Given the description of an element on the screen output the (x, y) to click on. 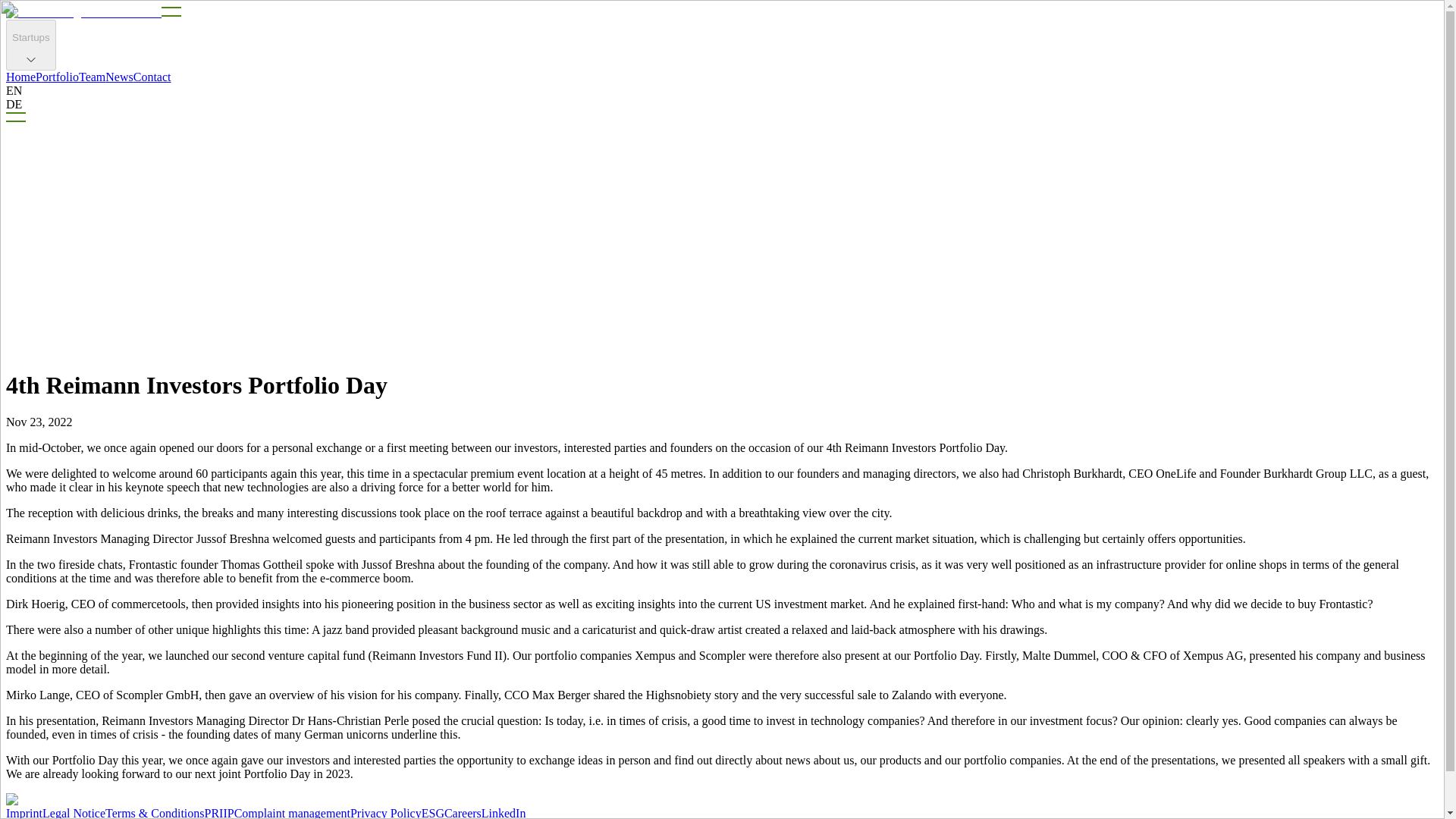
Startups (30, 44)
News (118, 76)
Portfolio (56, 76)
Privacy Policy (386, 812)
PRIIP (219, 812)
Home (19, 76)
Careers (462, 812)
LinkedIn (503, 812)
Imprint (23, 812)
ESG (433, 812)
Contact (152, 76)
Complaint management (292, 812)
Team (91, 76)
Legal Notice (73, 812)
